Given the description of an element on the screen output the (x, y) to click on. 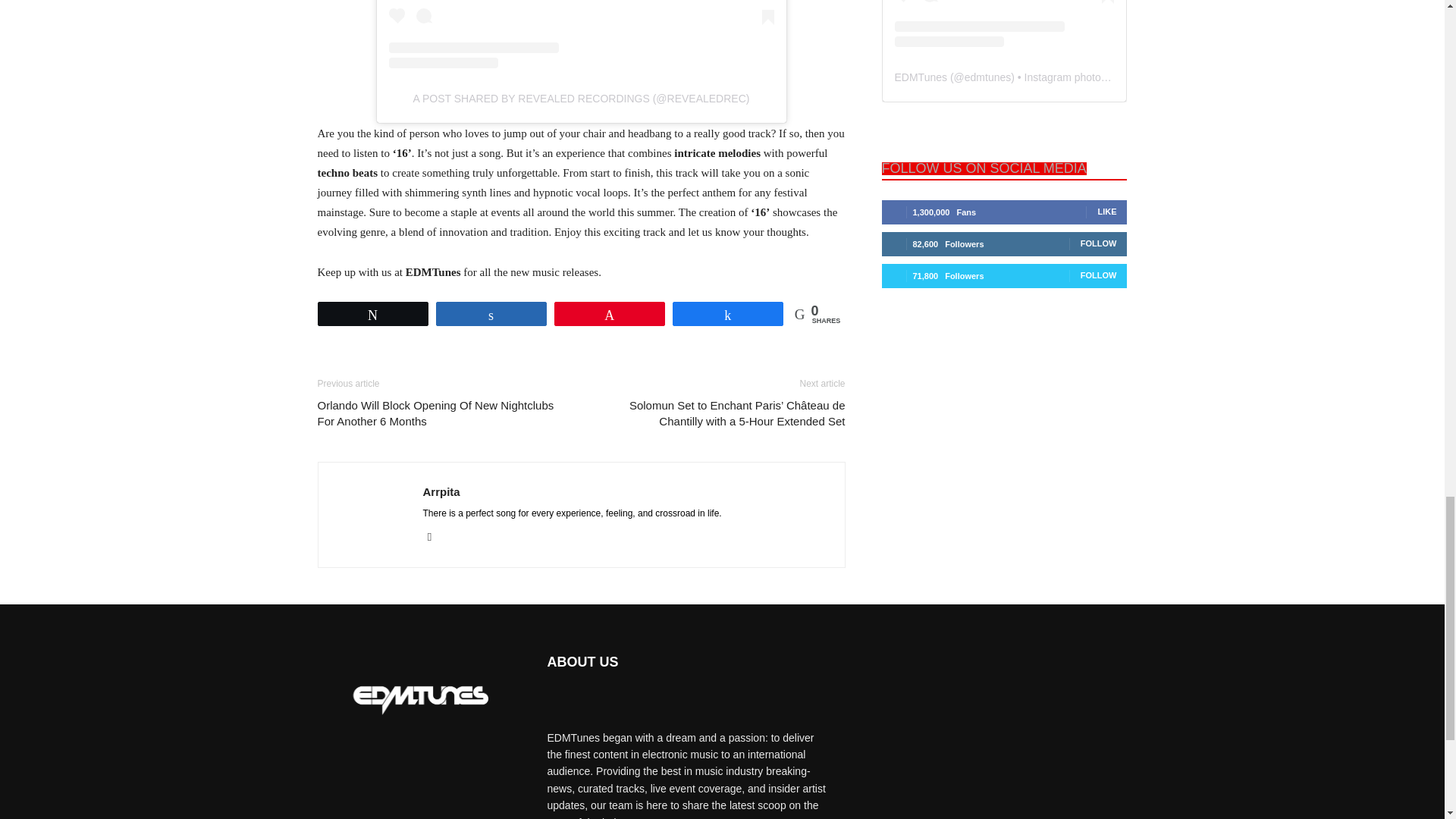
Instagram (435, 537)
